Given the description of an element on the screen output the (x, y) to click on. 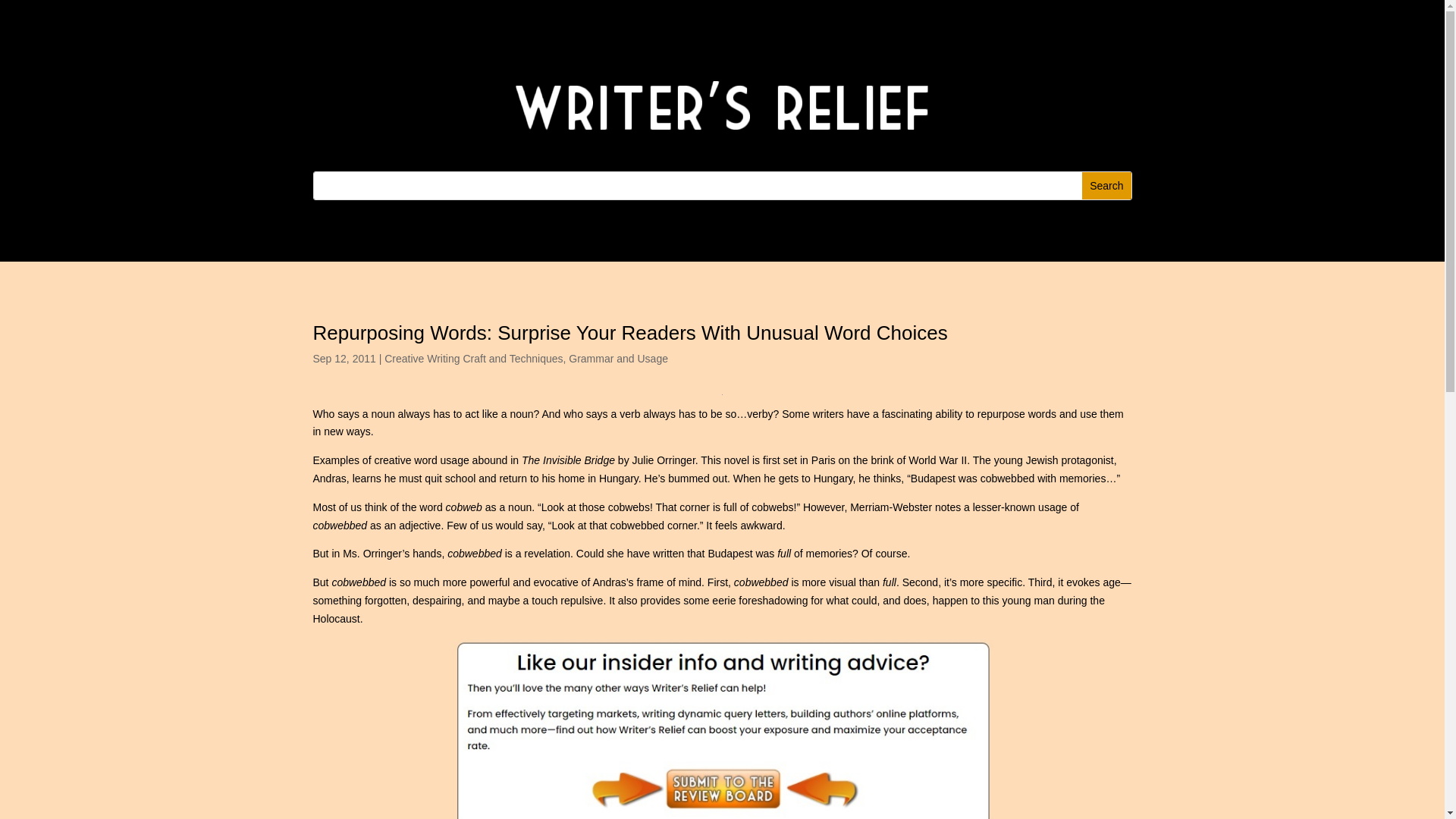
Grammar and Usage (618, 358)
WRMainLogo-NEW2024 (722, 104)
Search (1106, 185)
Search (1106, 185)
Creative Writing Craft and Techniques (473, 358)
Search (1106, 185)
